Given the description of an element on the screen output the (x, y) to click on. 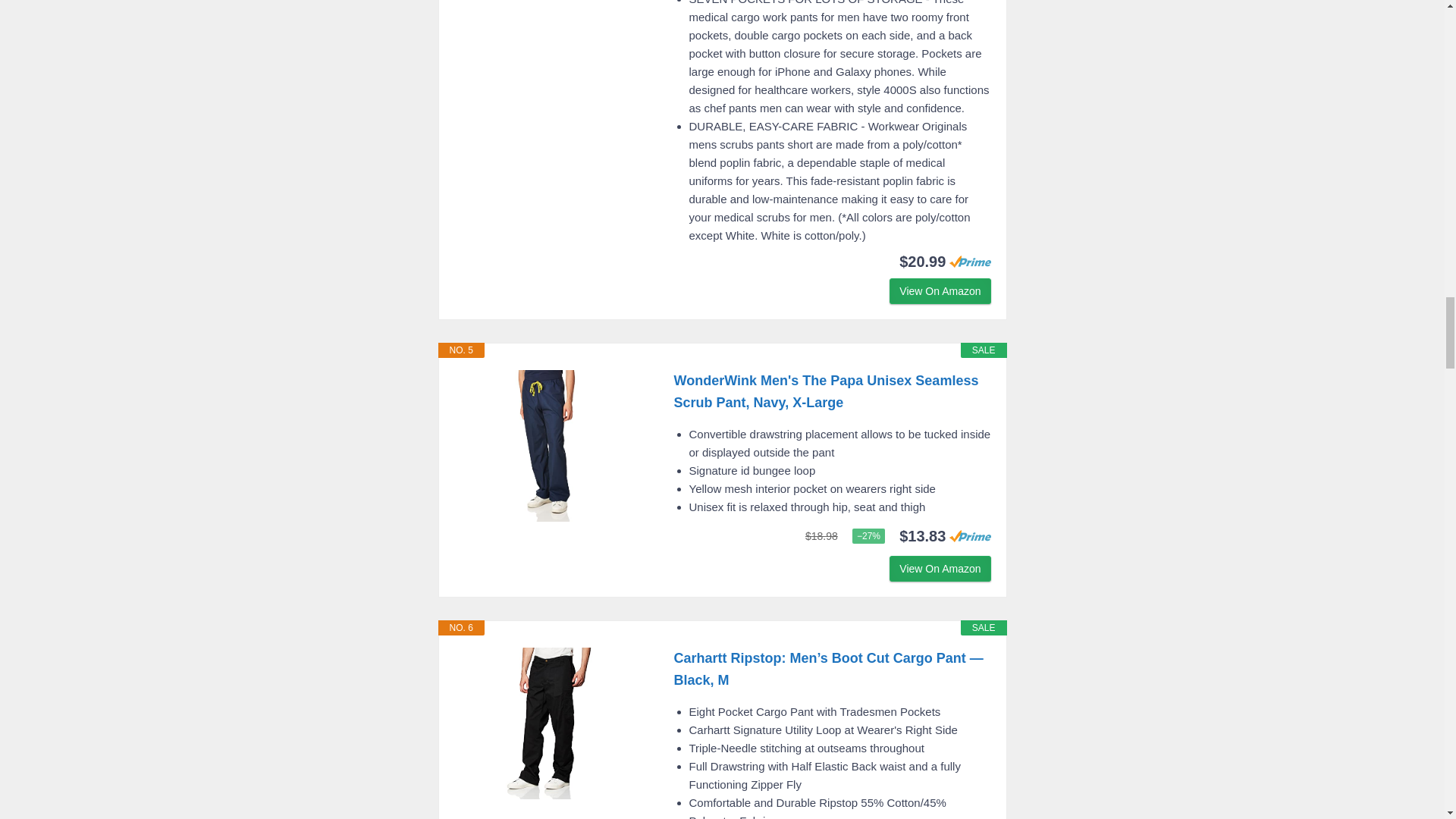
View On Amazon (939, 290)
